Given the description of an element on the screen output the (x, y) to click on. 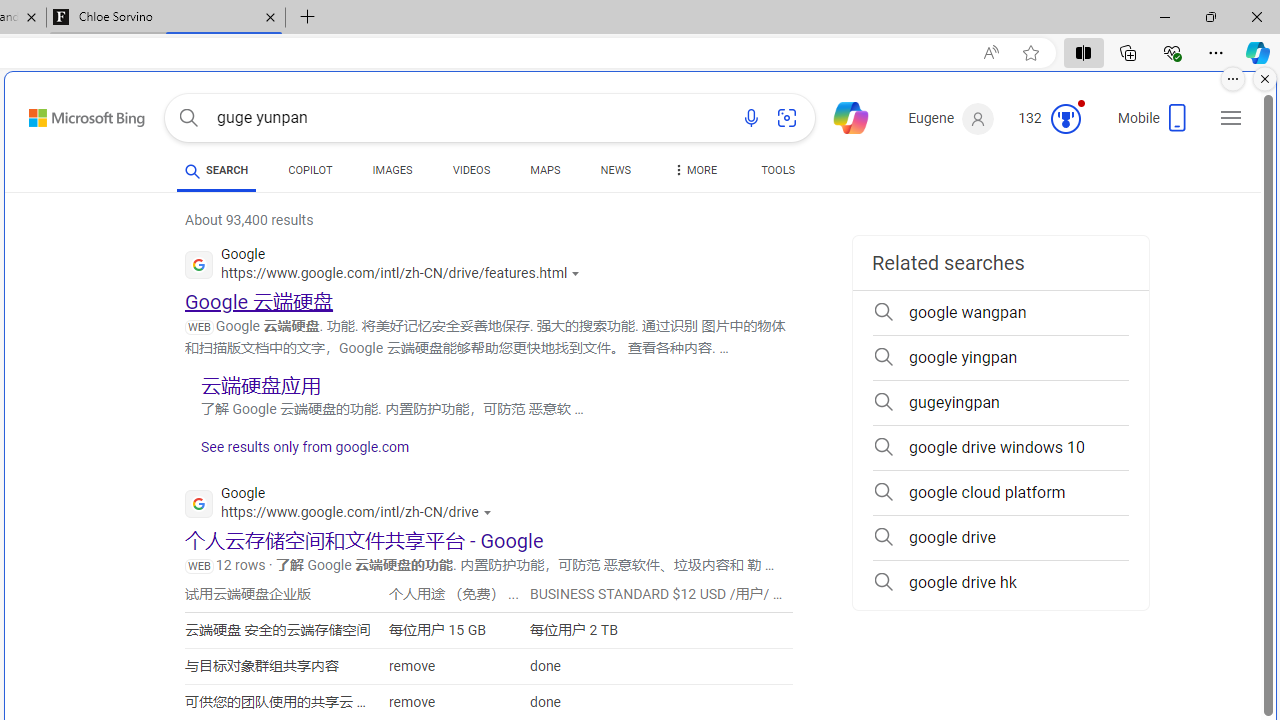
IMAGES (392, 170)
Split screen (1083, 52)
Back to Bing search (74, 113)
SEARCH (216, 170)
Close (1256, 16)
MORE (693, 173)
Add this page to favorites (Ctrl+D) (1030, 53)
google drive windows 10 (1000, 448)
Read aloud this page (Ctrl+Shift+U) (991, 53)
COPILOT (310, 173)
SEARCH (216, 170)
VIDEOS (471, 173)
Class: medal-svg-animation (1065, 118)
google yingpan (1000, 358)
